Given the description of an element on the screen output the (x, y) to click on. 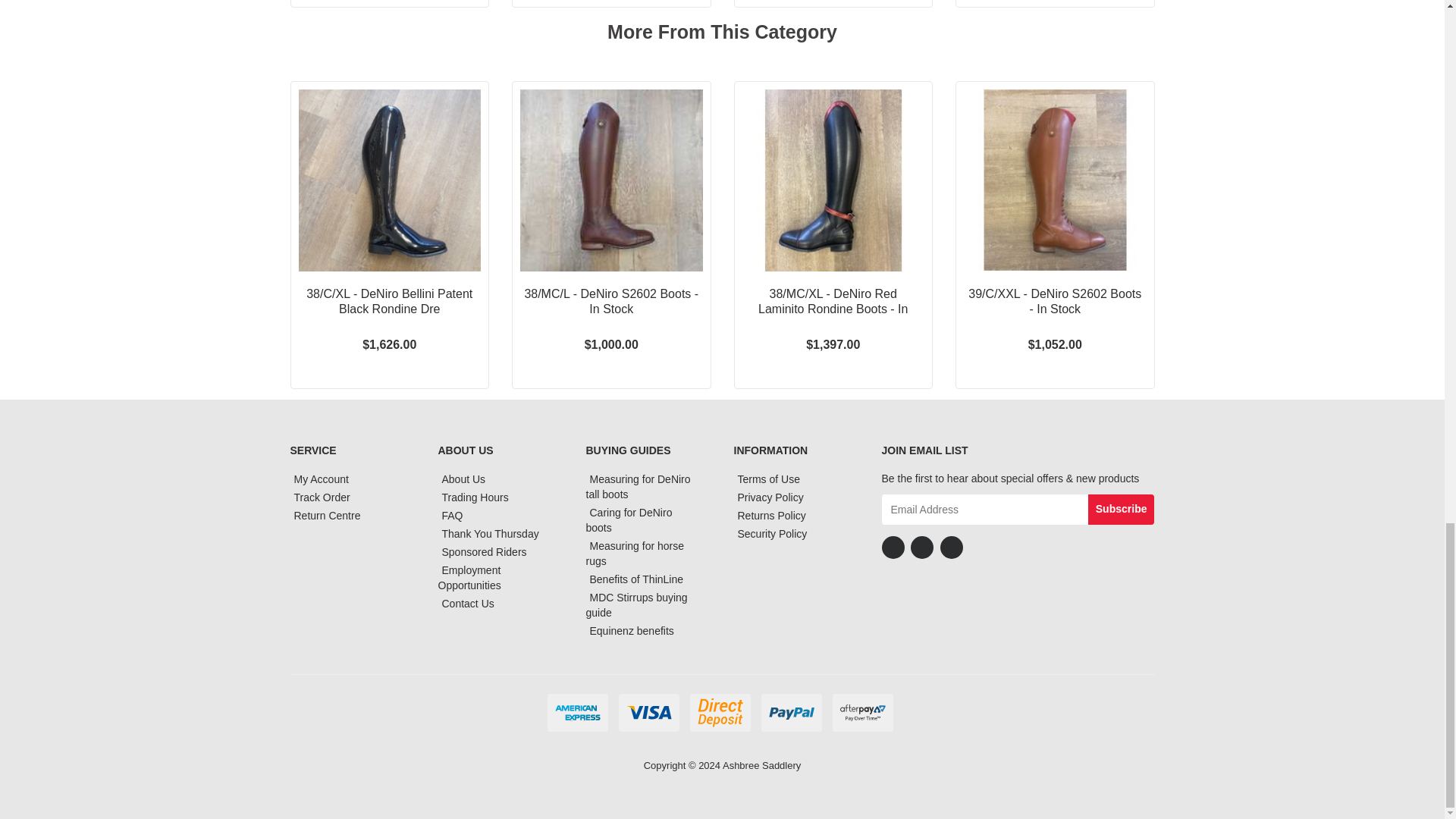
Subscribe (1120, 509)
